Given the description of an element on the screen output the (x, y) to click on. 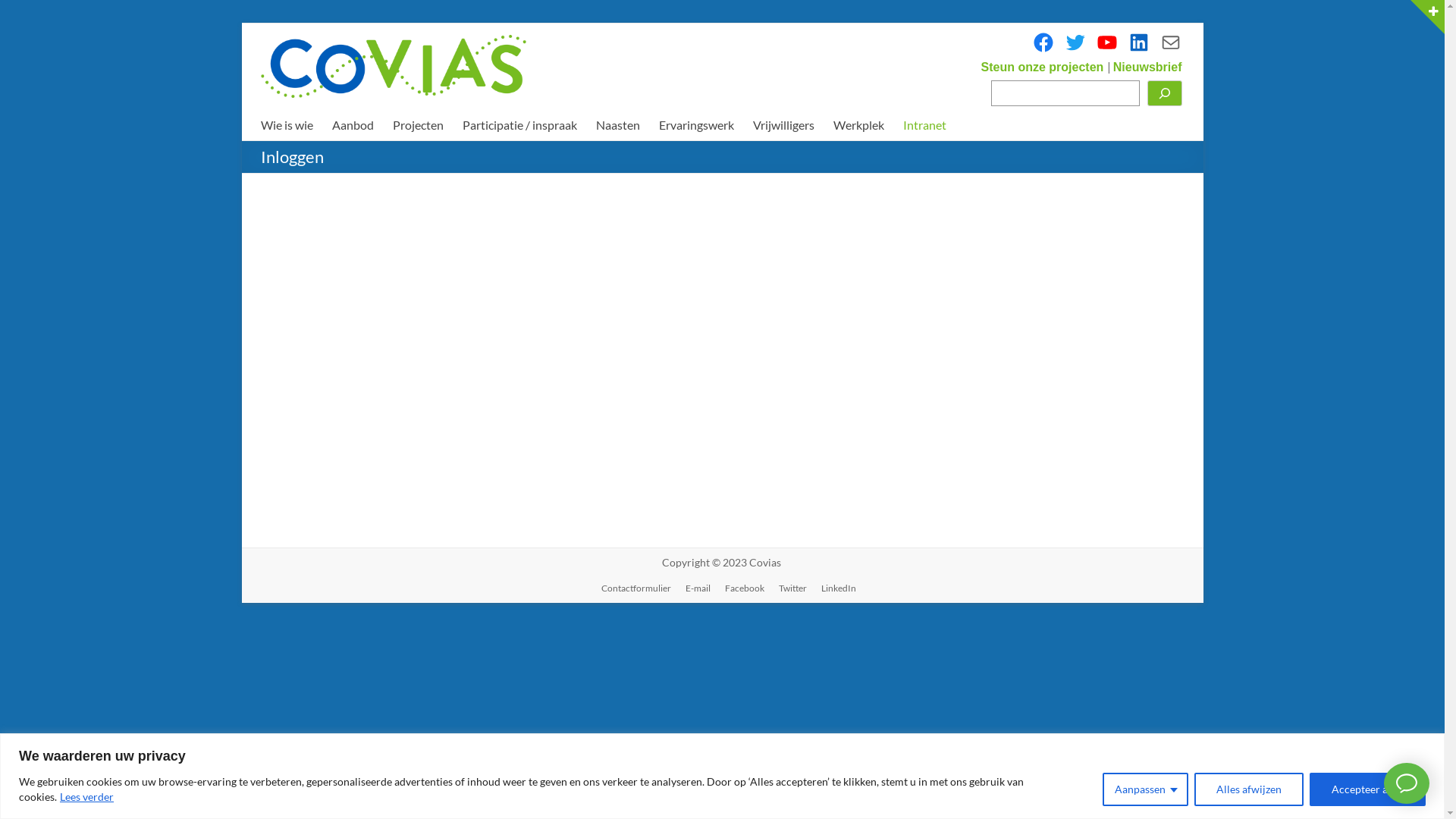
LinkedIn Element type: text (1137, 42)
Steun onze projecten Element type: text (1044, 66)
Wie is wie Element type: text (286, 124)
Facebook Element type: text (738, 588)
Projecten Element type: text (417, 124)
Alles afwijzen Element type: text (1248, 788)
Vrijwilligers Element type: text (782, 124)
Lees verder Element type: text (86, 795)
Skip to content Element type: text (241, 21)
Twitter Element type: text (1074, 42)
E-mail Element type: text (691, 588)
Ervaringswerk Element type: text (695, 124)
Aanpassen Element type: text (1145, 788)
Participatie / inspraak Element type: text (519, 124)
Contactformulier Element type: text (629, 588)
Werkplek Element type: text (857, 124)
Inloggen Element type: text (633, 452)
Twitter Element type: text (785, 588)
Intranet Element type: text (923, 124)
Accepteer alles Element type: text (1367, 788)
LinkedIn Element type: text (831, 588)
Covias Element type: text (765, 561)
Nieuwsbrief Element type: text (1147, 66)
Contactformulier Element type: text (1169, 42)
Facebook Element type: text (1042, 42)
Aanbod Element type: text (352, 124)
Youtube Element type: text (1106, 42)
Naasten Element type: text (618, 124)
